Given the description of an element on the screen output the (x, y) to click on. 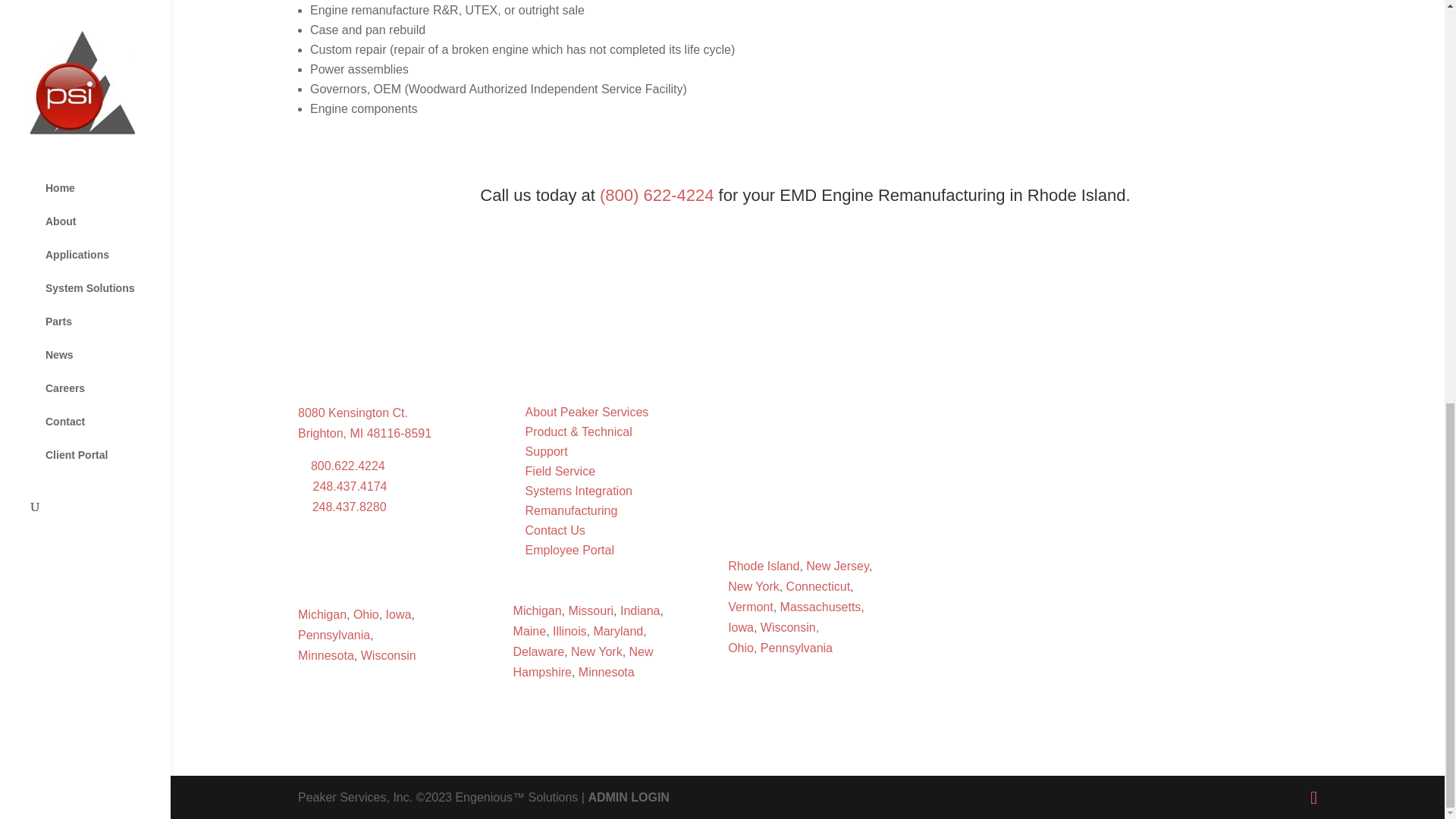
Follow on Twitter (370, 558)
Follow on Facebook (309, 558)
Follow on LinkedIn (340, 558)
